Given the description of an element on the screen output the (x, y) to click on. 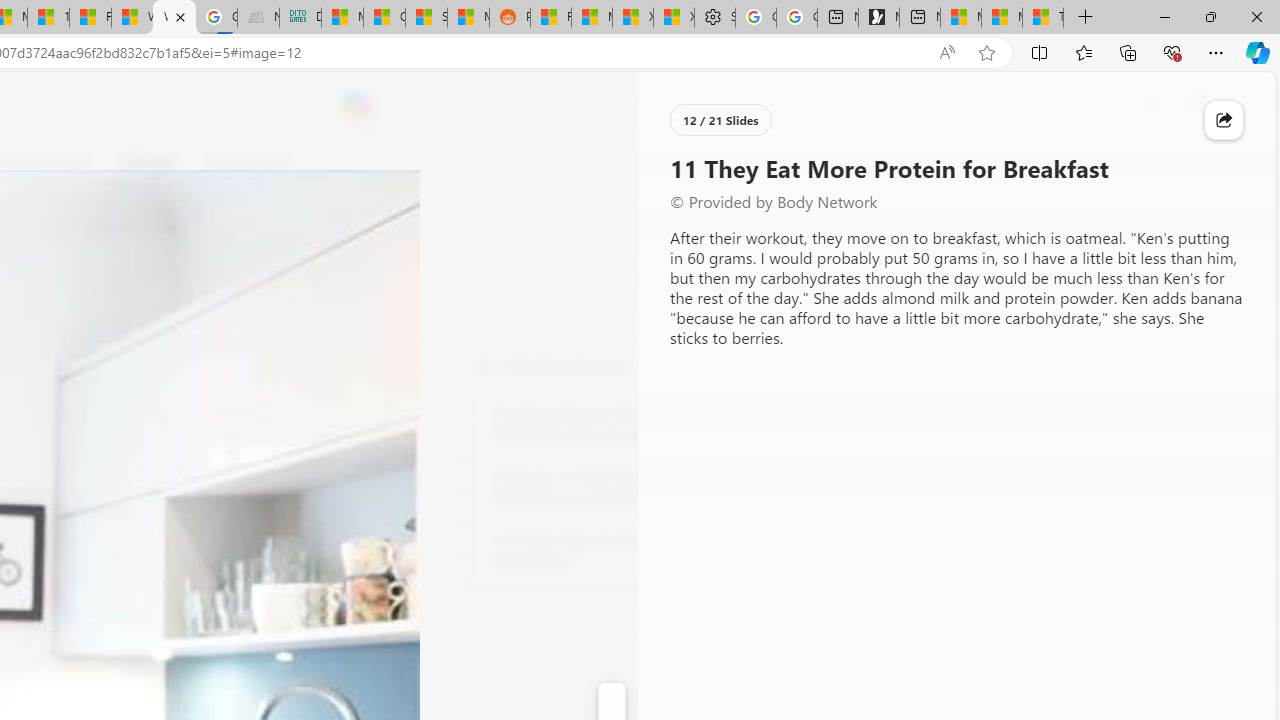
Visit Body Network website (733, 364)
Go to publisher's site (180, 258)
Class: at-item immersive (1224, 120)
